Given the description of an element on the screen output the (x, y) to click on. 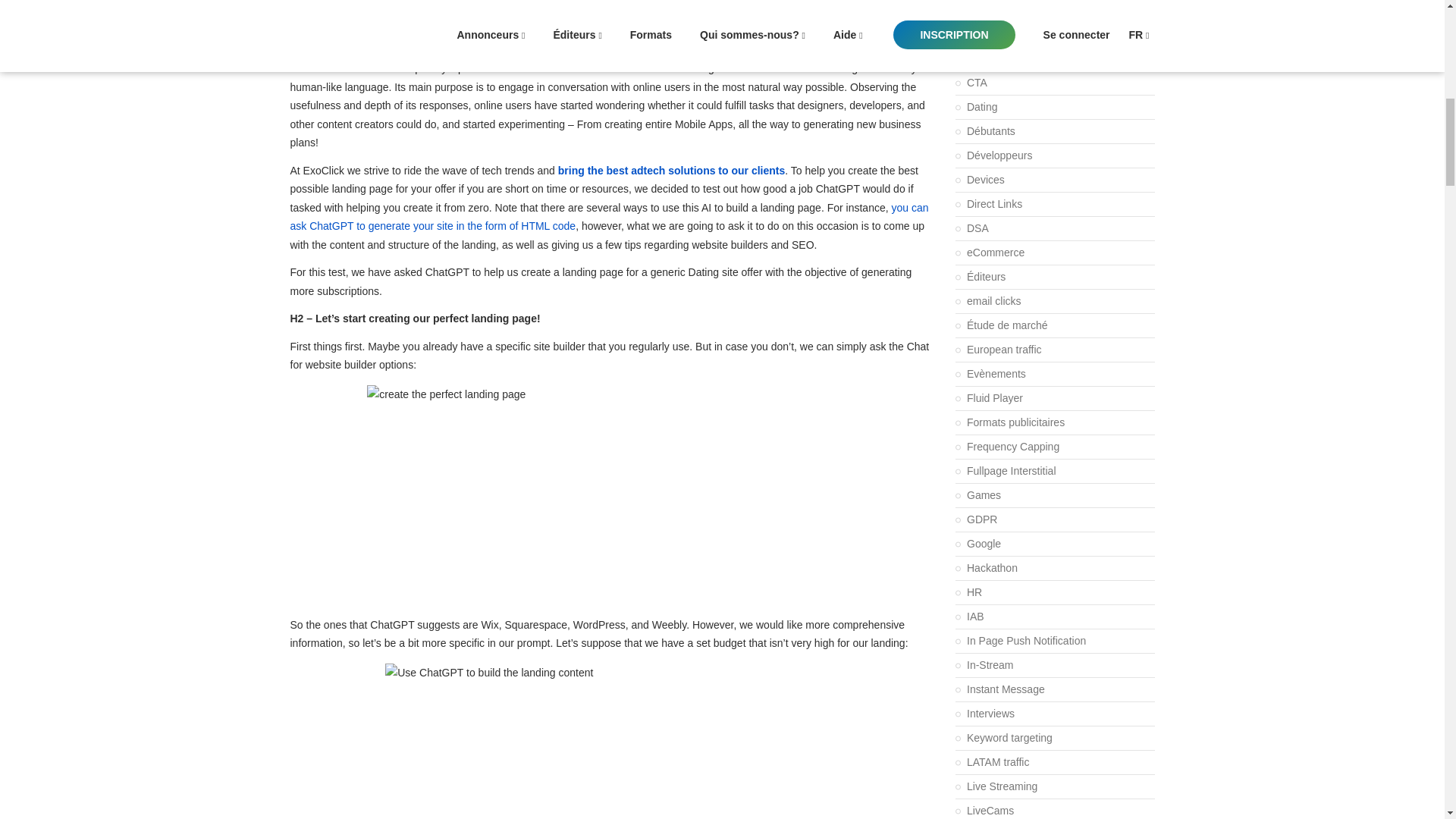
bring the best adtech solutions to our clients (670, 170)
